Given the description of an element on the screen output the (x, y) to click on. 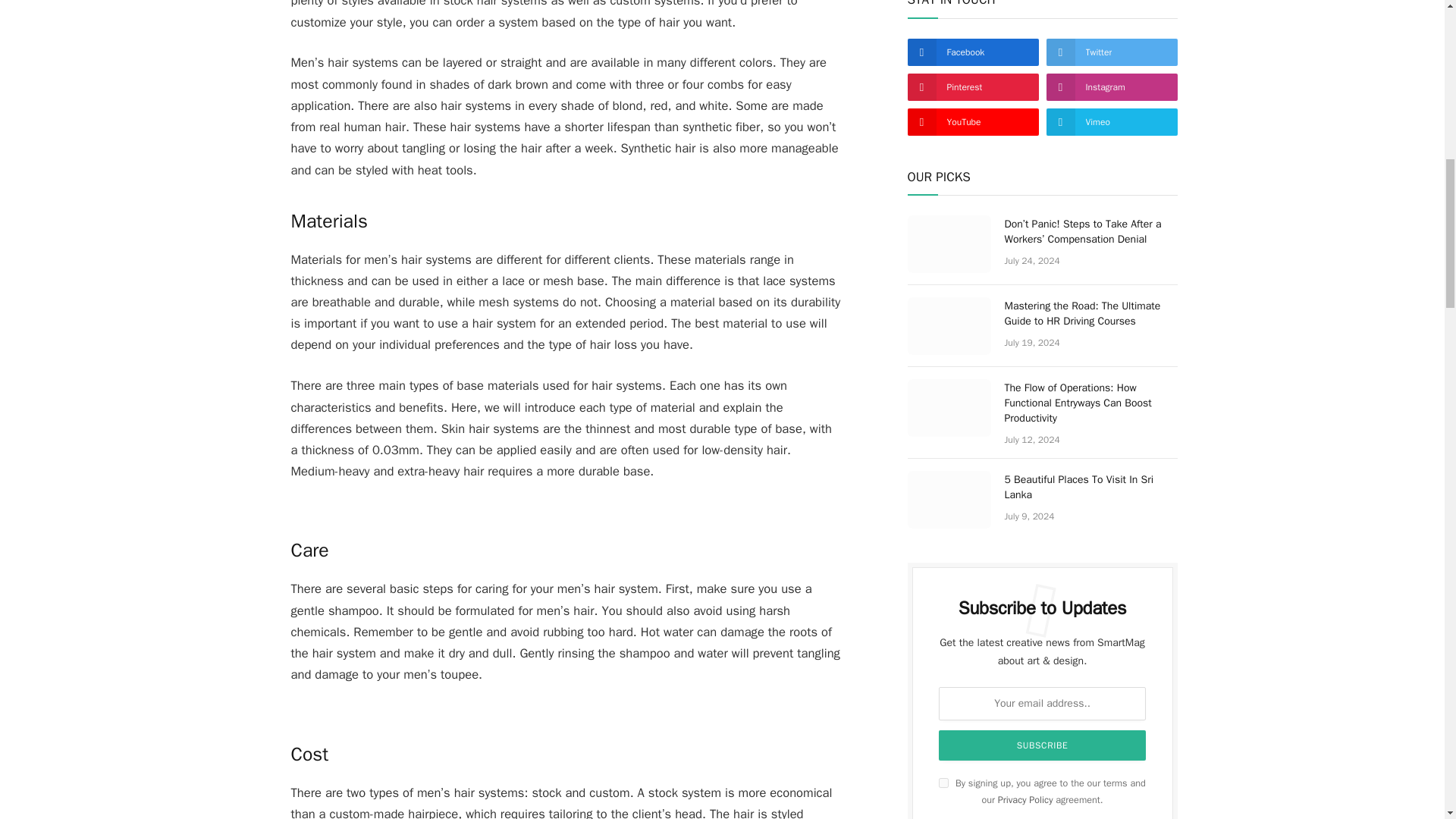
Subscribe (1043, 745)
on (944, 782)
